Given the description of an element on the screen output the (x, y) to click on. 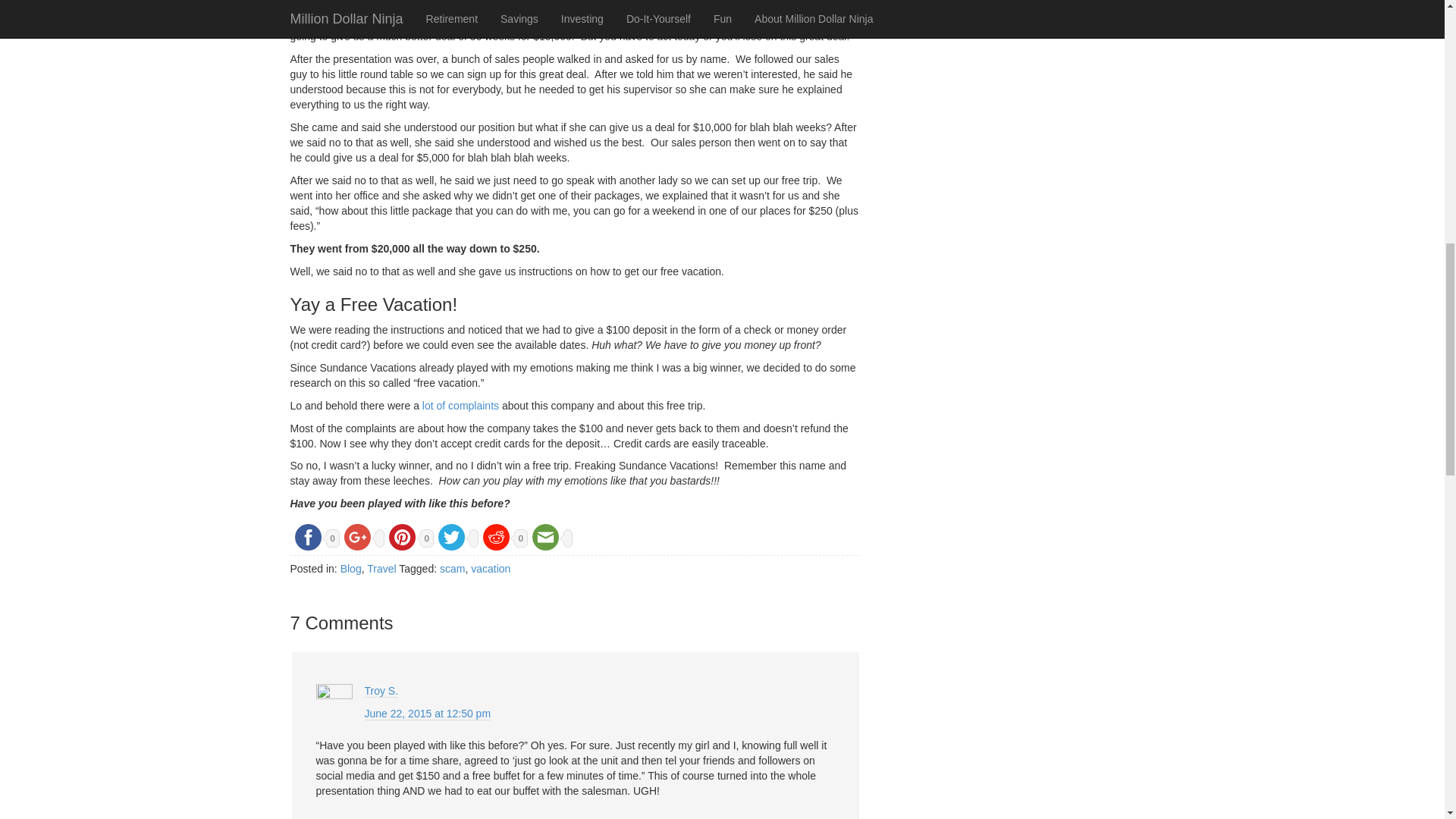
pinterest (402, 537)
June 22, 2015 at 12:50 pm (427, 713)
Troy S. (380, 690)
0 (408, 535)
facebook (306, 537)
Blog (350, 568)
lot of complaints (460, 405)
google (357, 537)
twitter (450, 537)
Travel (381, 568)
